Given the description of an element on the screen output the (x, y) to click on. 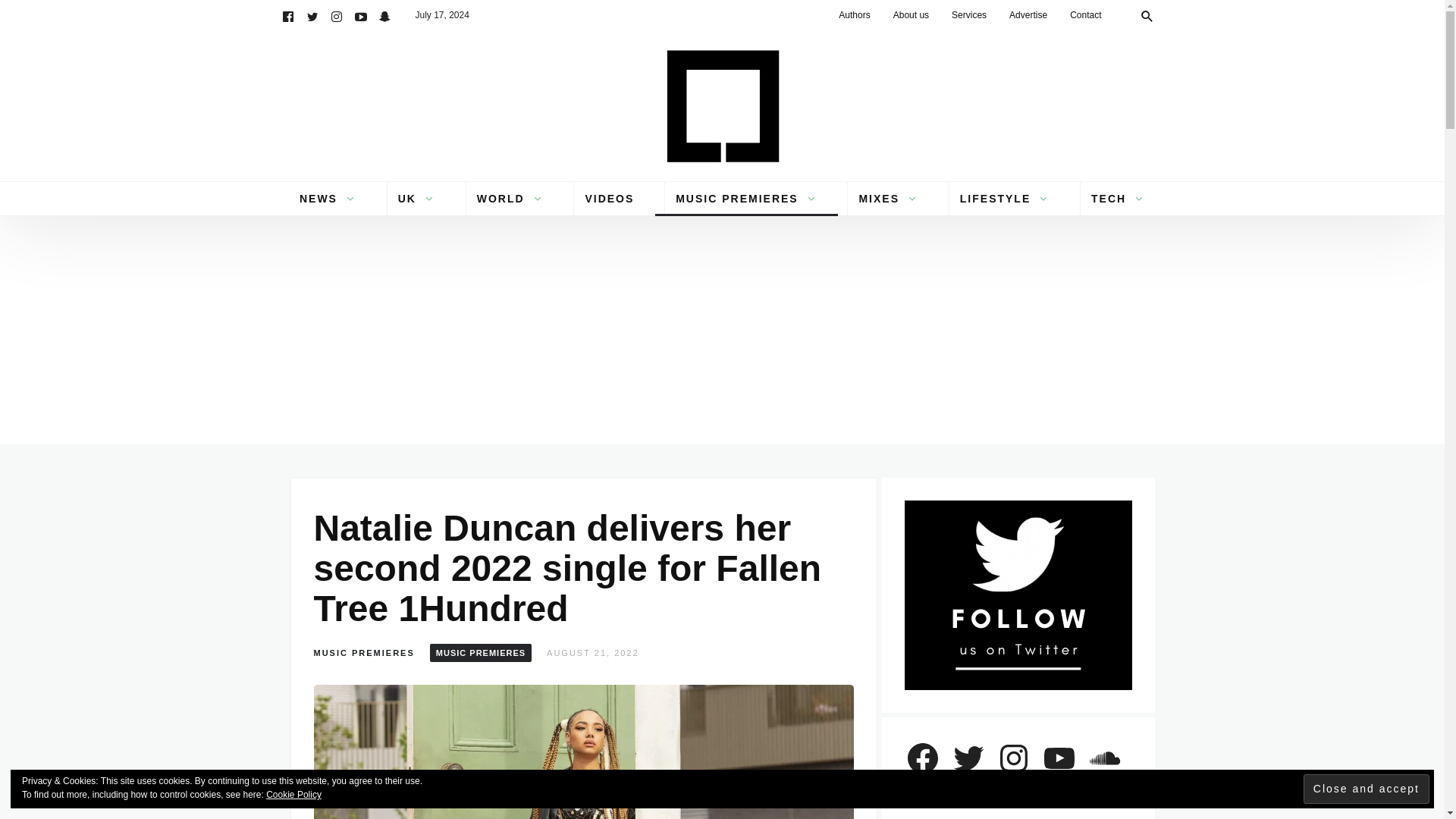
NEWS (328, 198)
WORLD (509, 198)
Contact (1085, 15)
YouTube (360, 14)
View all posts in Music Premieres (480, 652)
About us (911, 15)
UK (416, 198)
Advertise (1027, 15)
Authors (853, 15)
Twitter (311, 14)
Snapchat (384, 14)
Services (968, 15)
Facebook (288, 14)
Close and accept (1366, 788)
